Given the description of an element on the screen output the (x, y) to click on. 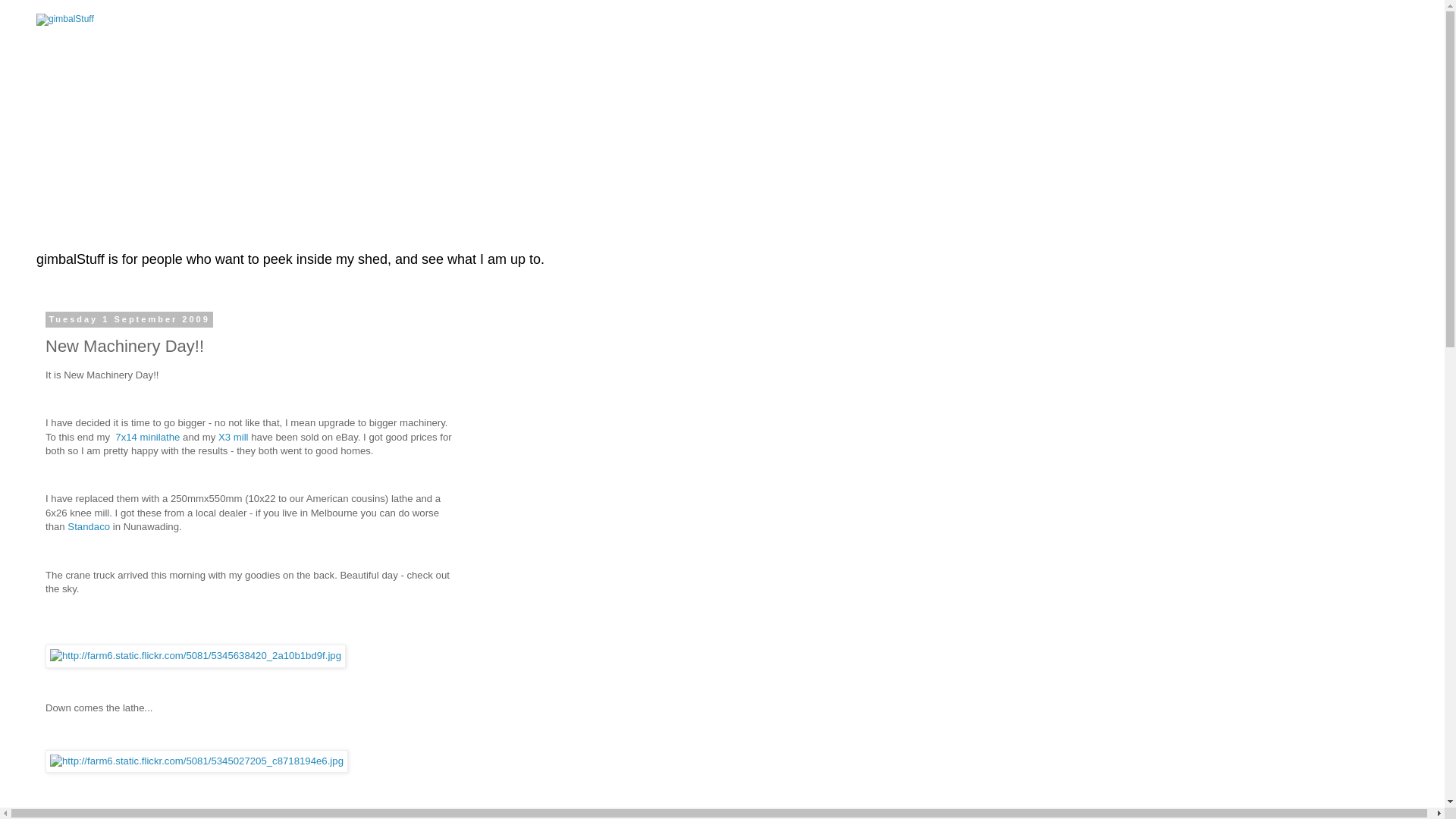
X3 mill Element type: text (233, 436)
7x14 minilathe Element type: text (147, 436)
Standaco Element type: text (88, 526)
